Given the description of an element on the screen output the (x, y) to click on. 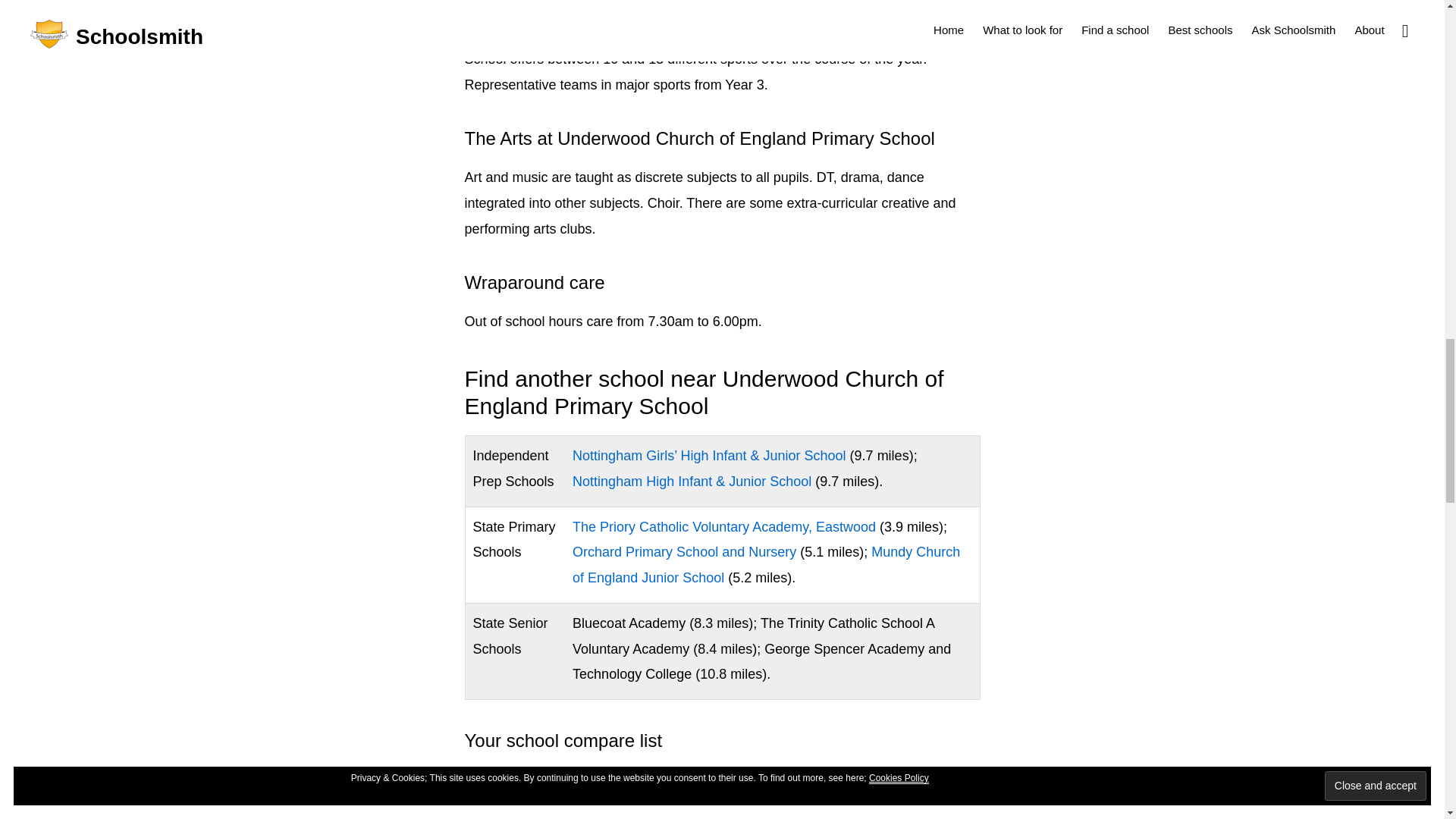
The Priory Catholic Voluntary Academy, Eastwood (724, 525)
Mundy Church of England Junior School (765, 564)
Add current school (521, 779)
Add current school (521, 779)
Orchard Primary School and Nursery (684, 551)
